Given the description of an element on the screen output the (x, y) to click on. 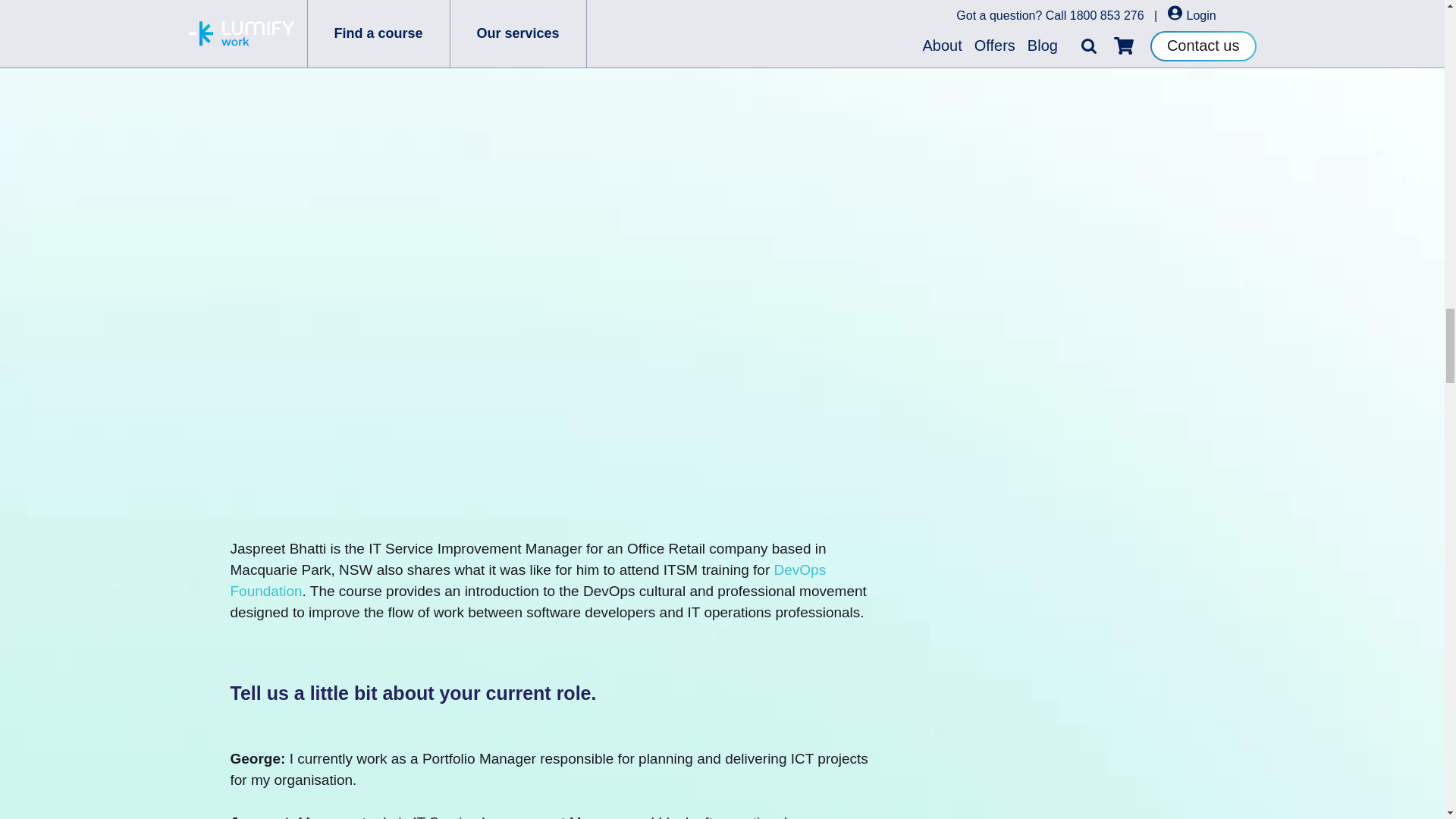
DevOps Foundation (528, 579)
